Given the description of an element on the screen output the (x, y) to click on. 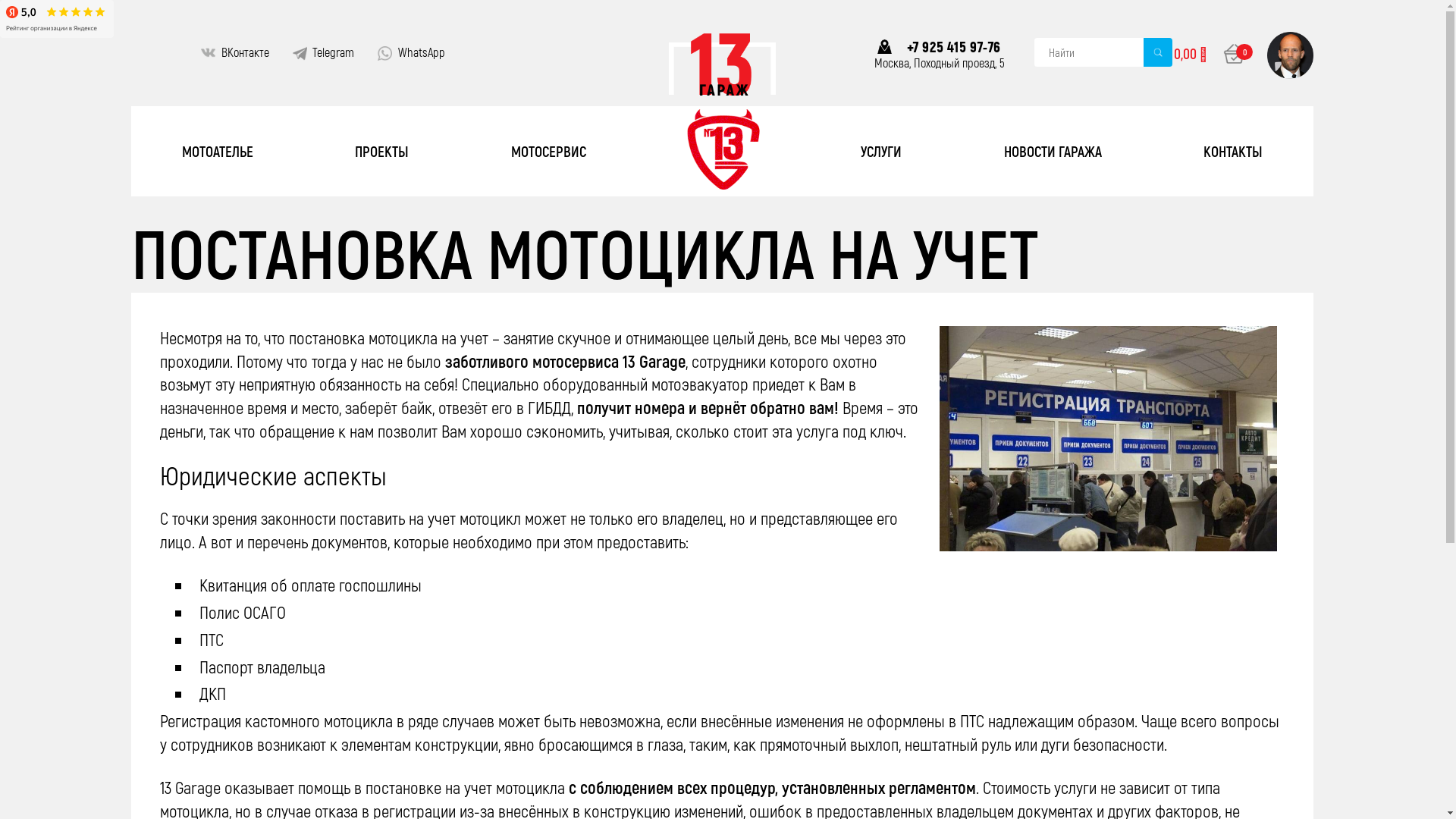
Telegram Element type: text (333, 52)
WhatsApp Element type: text (421, 52)
